Given the description of an element on the screen output the (x, y) to click on. 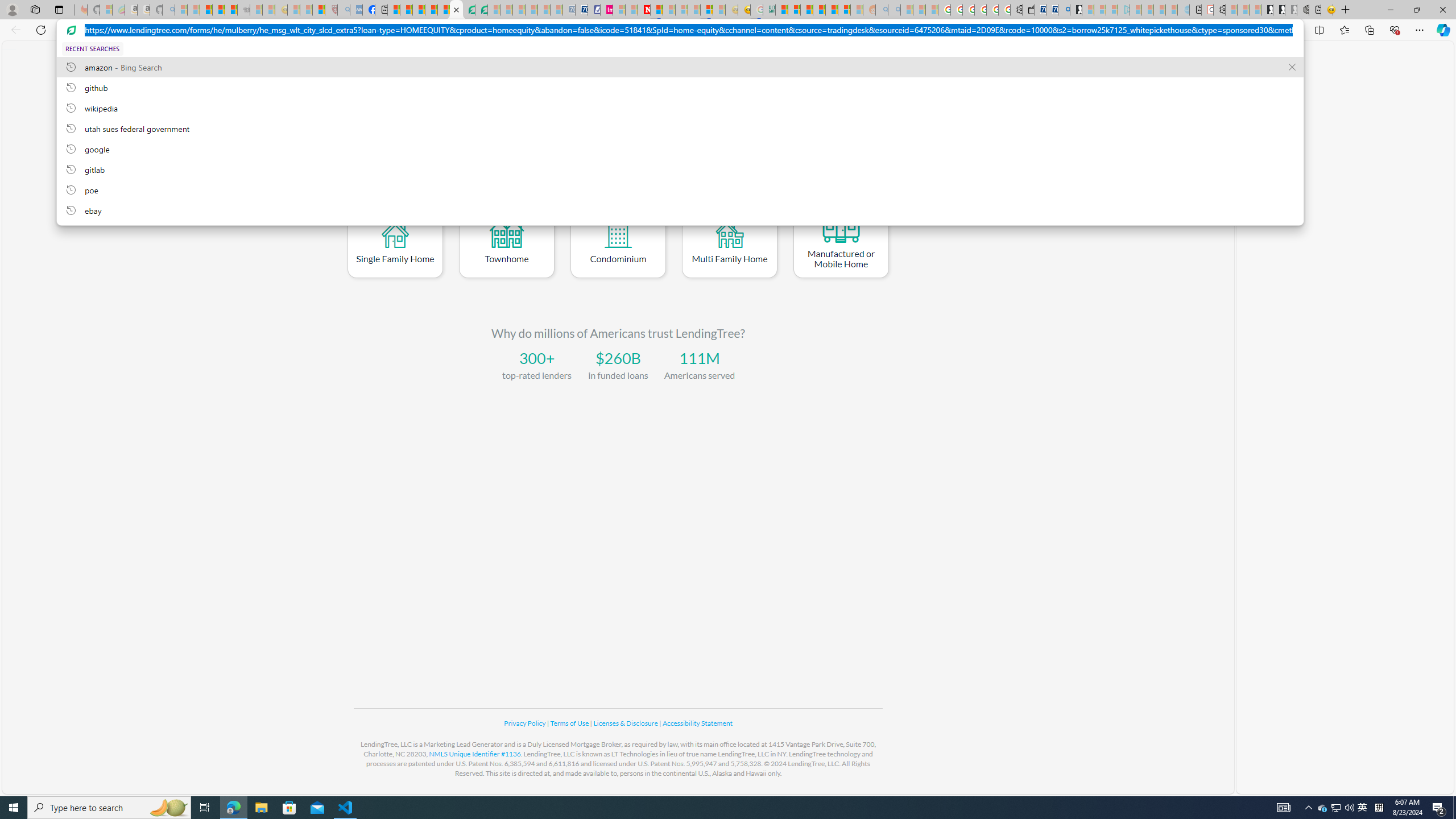
Local - MSN (318, 9)
Disclosures (864, 62)
google, recent searches from history (679, 148)
